Given the description of an element on the screen output the (x, y) to click on. 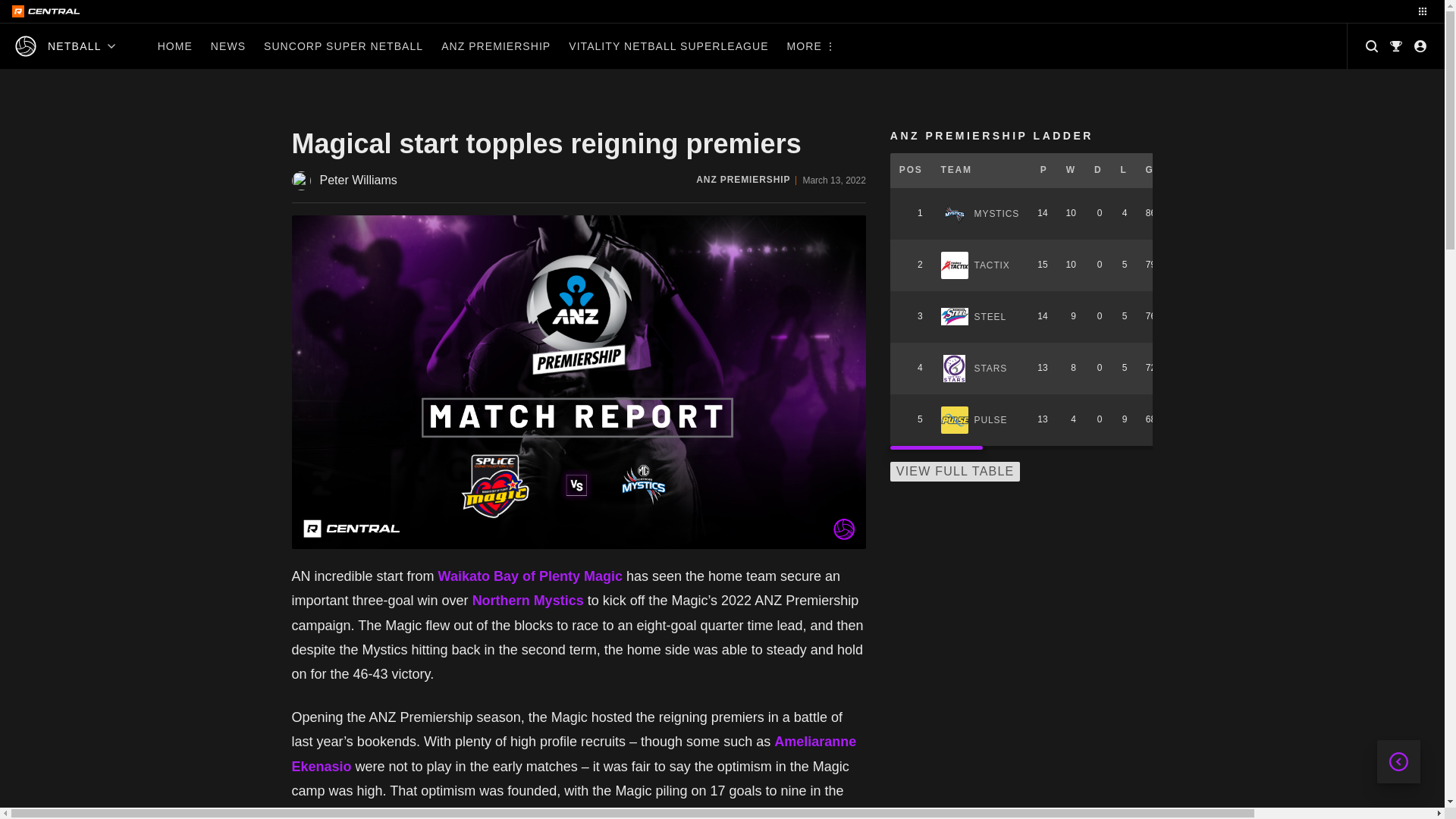
NETBALL (65, 45)
Ameliaranne Ekenasio (573, 753)
NEWS (228, 46)
SUNCORP SUPER NETBALL (343, 46)
Waikato Bay of Plenty Magic (530, 575)
HOME (175, 46)
Search (1371, 46)
Peter Williams (343, 180)
ANZ PREMIERSHIP (495, 46)
Northern Mystics (527, 600)
